Given the description of an element on the screen output the (x, y) to click on. 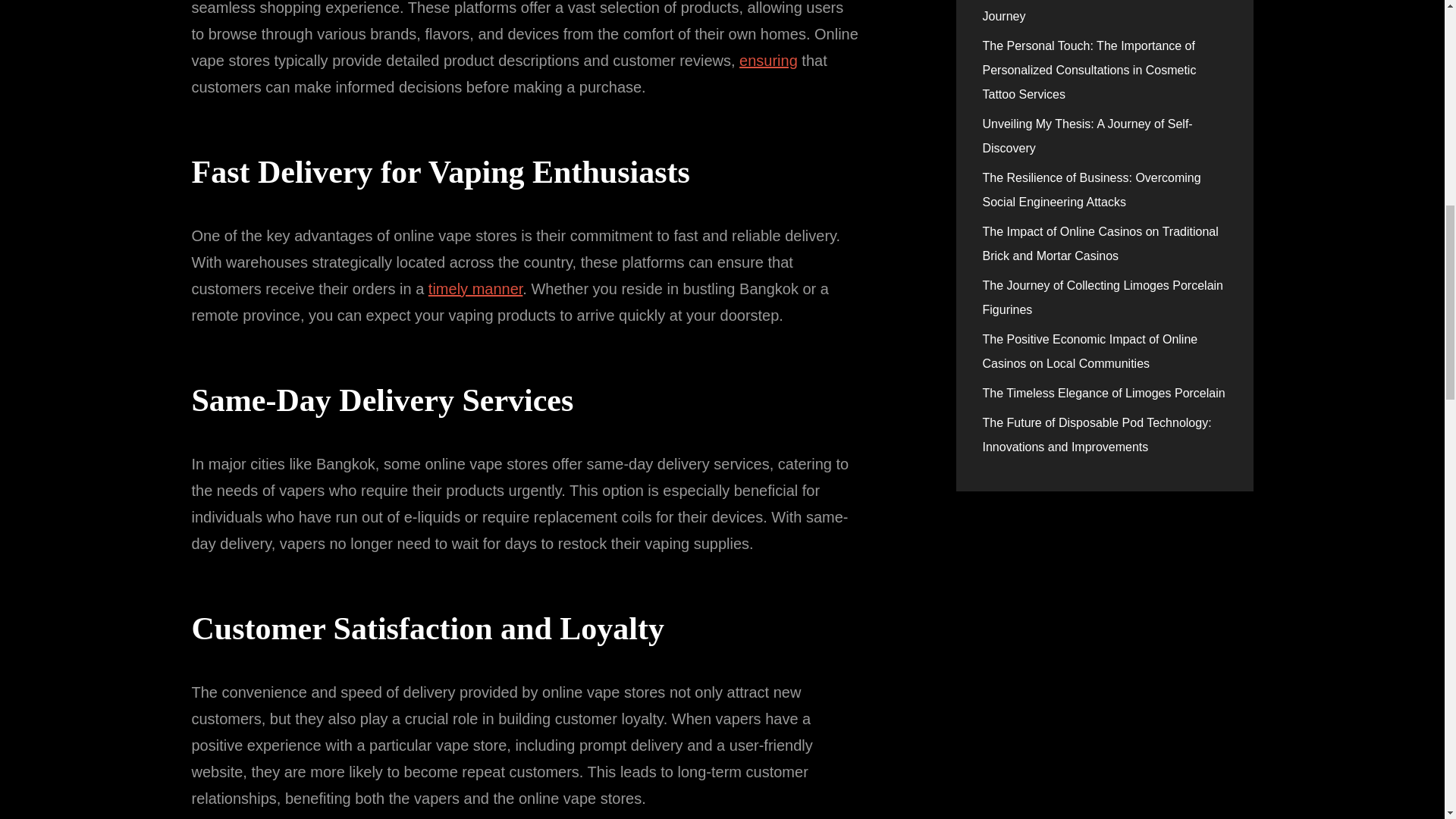
The Allure of Online Gambling: A Personal Journey (1095, 11)
ensuring (768, 60)
The Timeless Elegance of Limoges Porcelain (1103, 392)
Unveiling My Thesis: A Journey of Self-Discovery (1087, 135)
timely manner (475, 288)
The Journey of Collecting Limoges Porcelain Figurines (1103, 297)
